Given the description of an element on the screen output the (x, y) to click on. 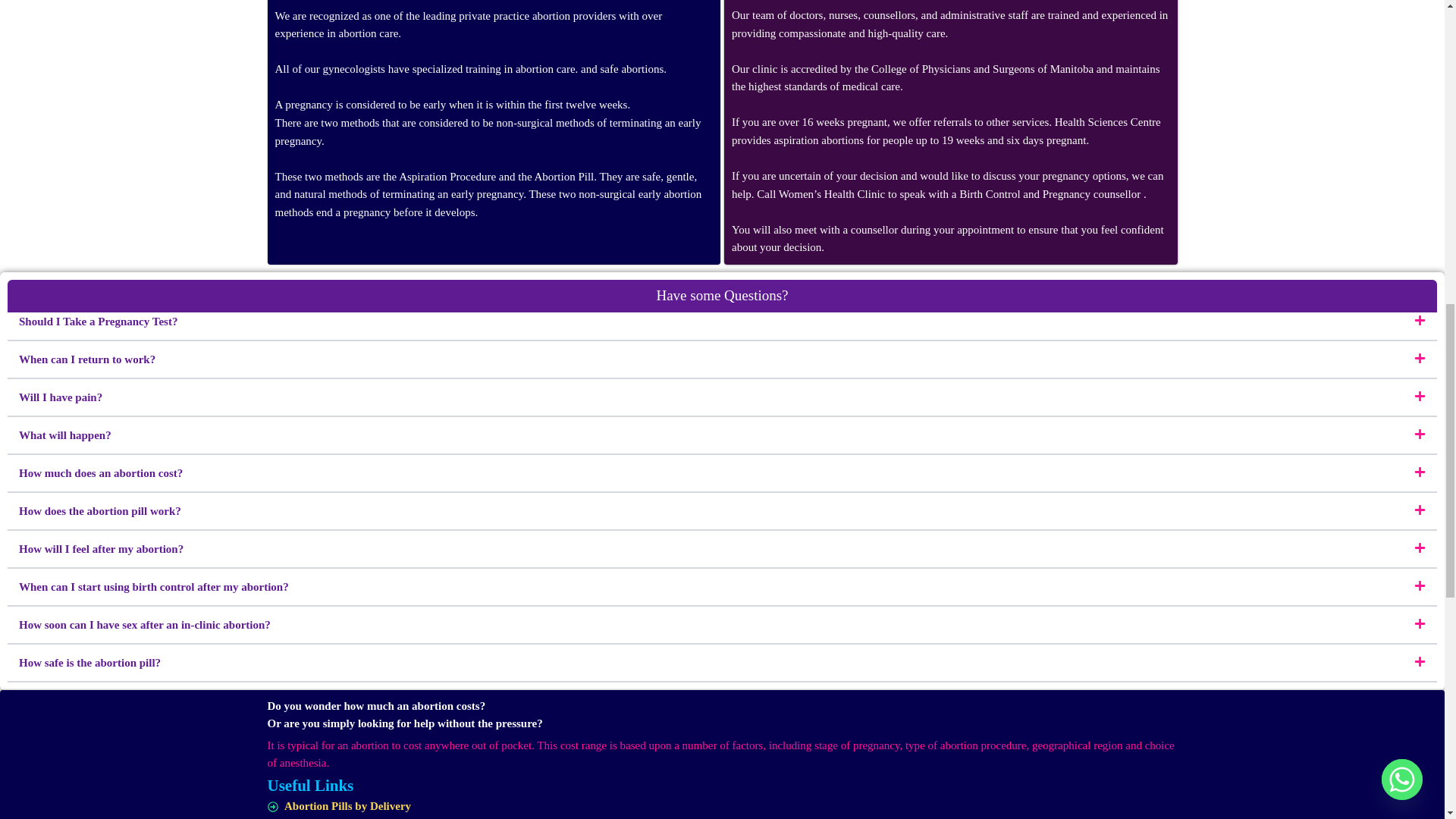
Will I have pain? (59, 397)
When can I start using birth control after my abortion? (153, 586)
Abortion Pills by Delivery  (721, 806)
What will happen? (65, 435)
When can I return to work? (86, 358)
How much does an abortion cost? (100, 472)
How safe is the abortion pill? (89, 662)
How will I feel after my abortion? (100, 548)
How does the abortion pill work? (99, 510)
How soon can I have sex after an in-clinic abortion? (144, 624)
Should I Take a Pregnancy Test? (97, 321)
